Given the description of an element on the screen output the (x, y) to click on. 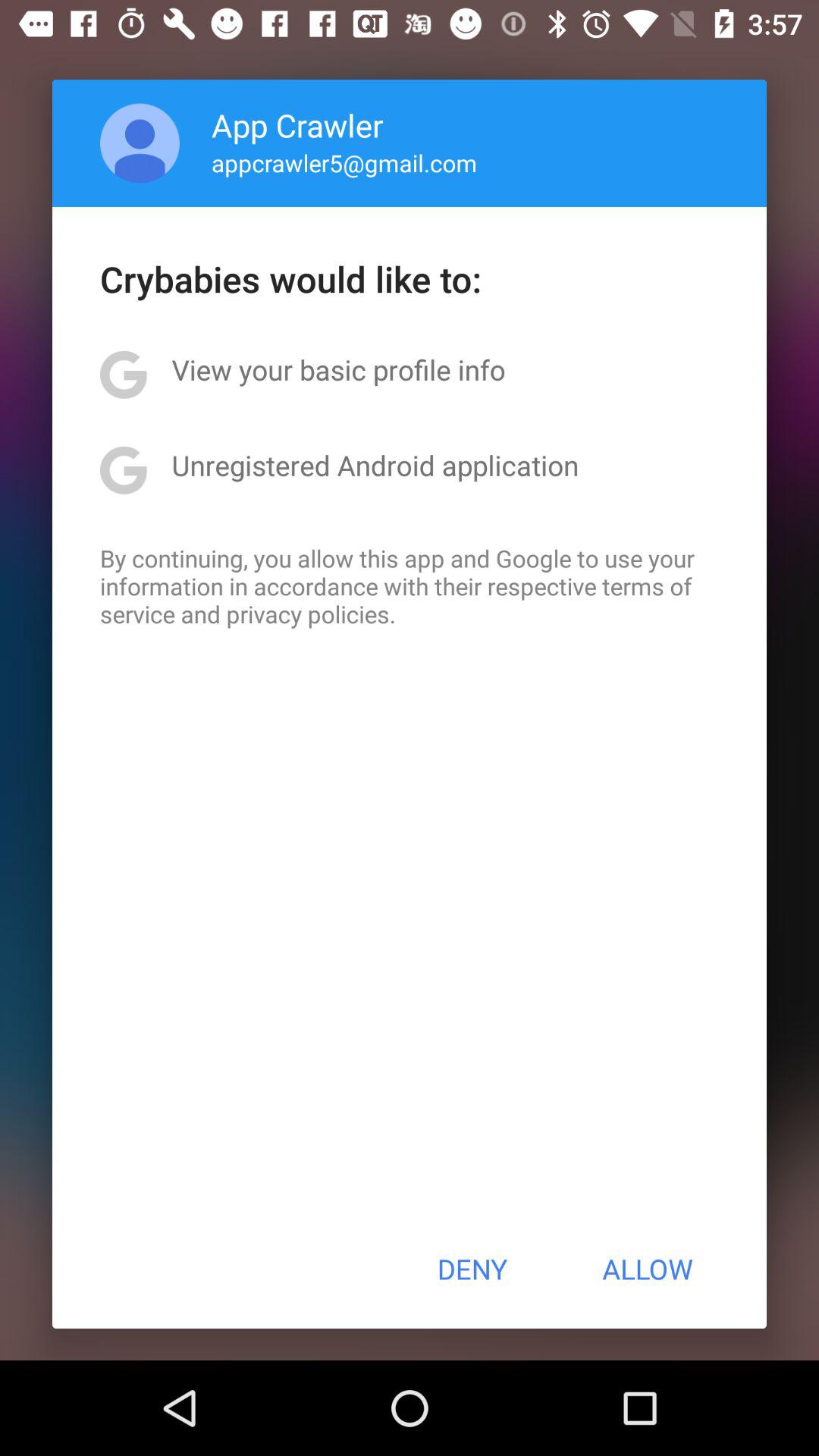
launch the deny (471, 1268)
